Given the description of an element on the screen output the (x, y) to click on. 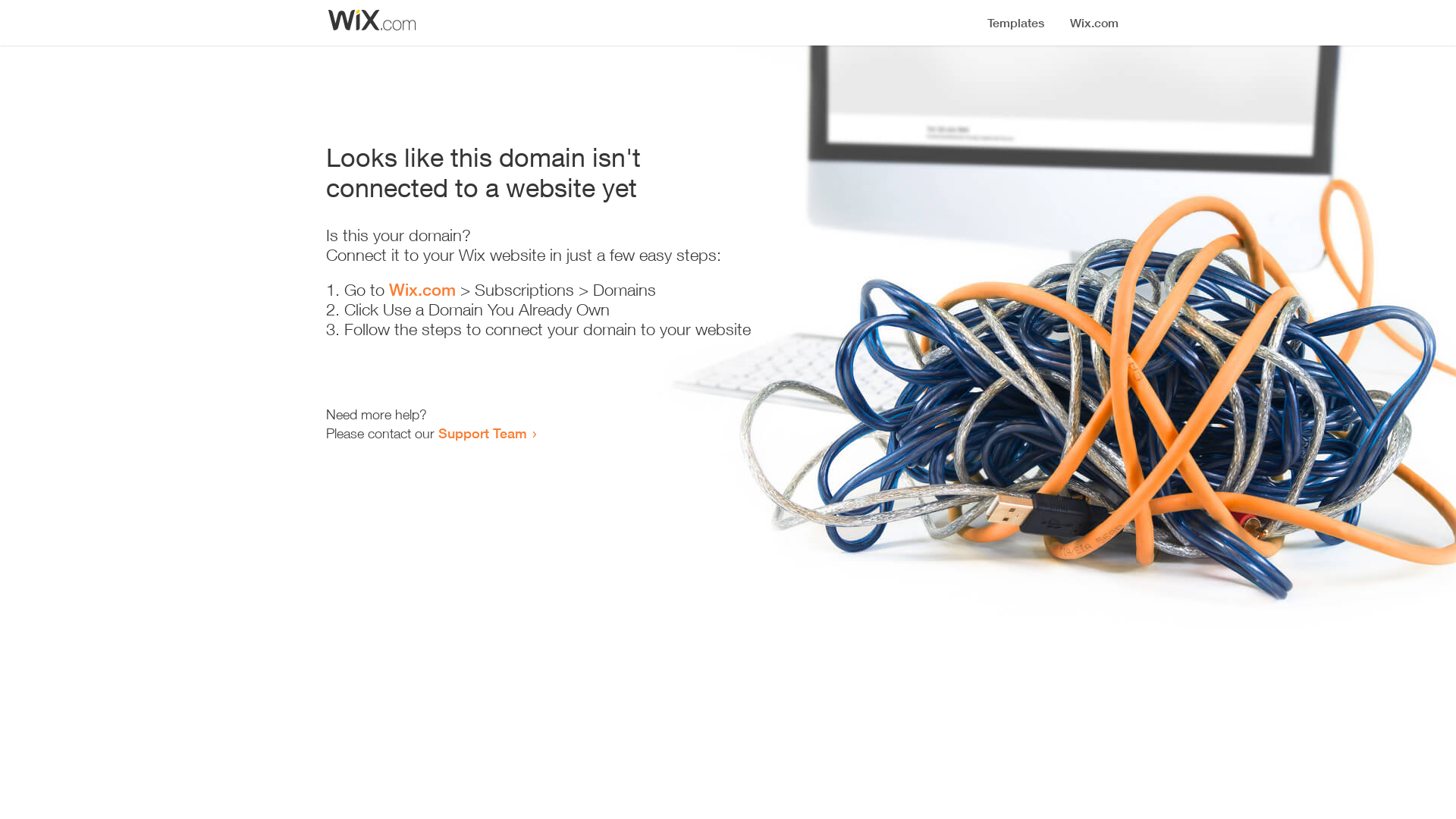
Support Team Element type: text (482, 432)
Wix.com Element type: text (422, 289)
